Given the description of an element on the screen output the (x, y) to click on. 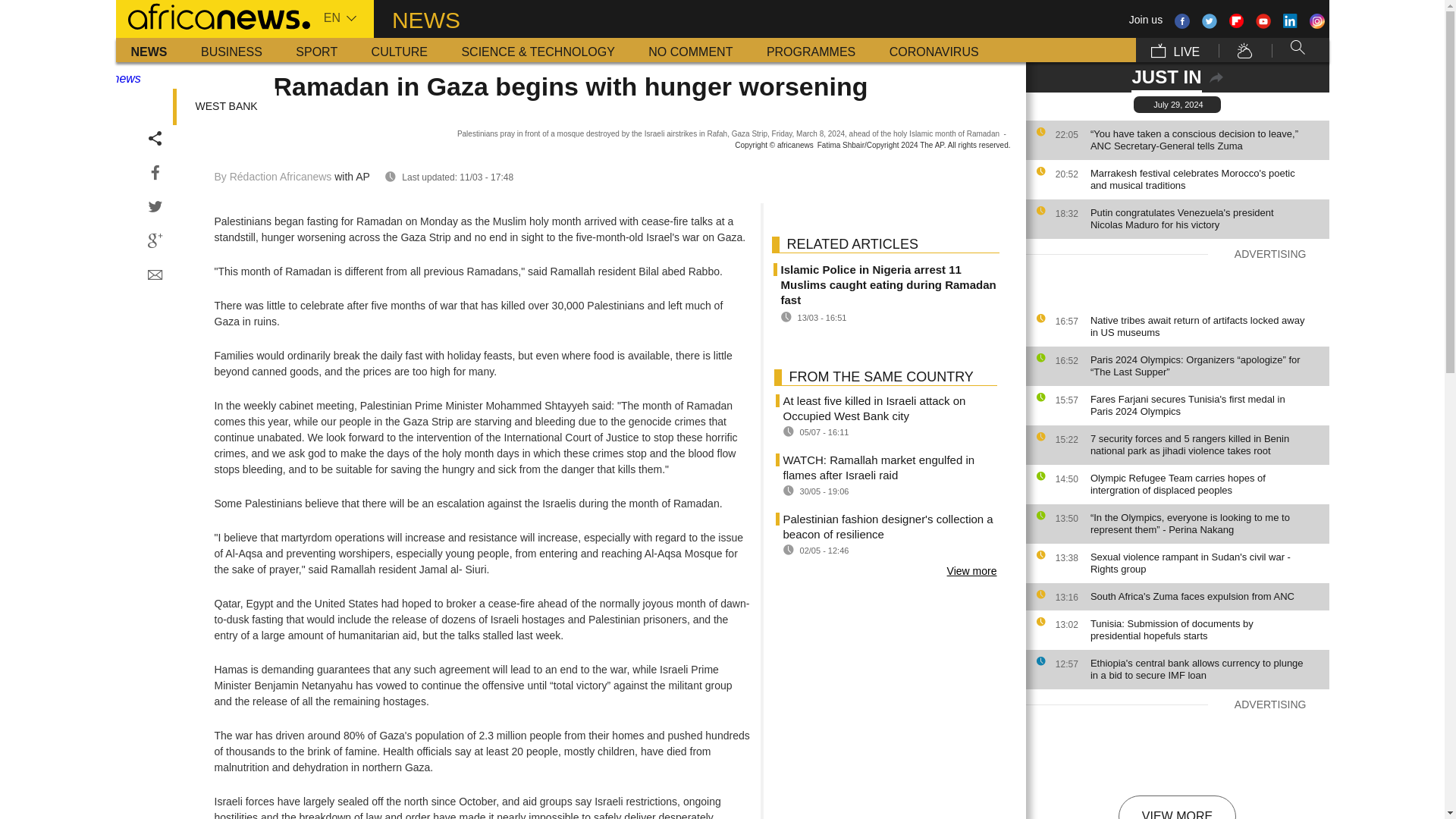
LIVE (1174, 49)
Business (232, 49)
NEWS (148, 49)
CULTURE (399, 49)
Africanews (211, 15)
NO COMMENT (690, 49)
Sport (316, 49)
Culture (399, 49)
Coronavirus (934, 49)
SPORT (316, 49)
Programmes (810, 49)
